Given the description of an element on the screen output the (x, y) to click on. 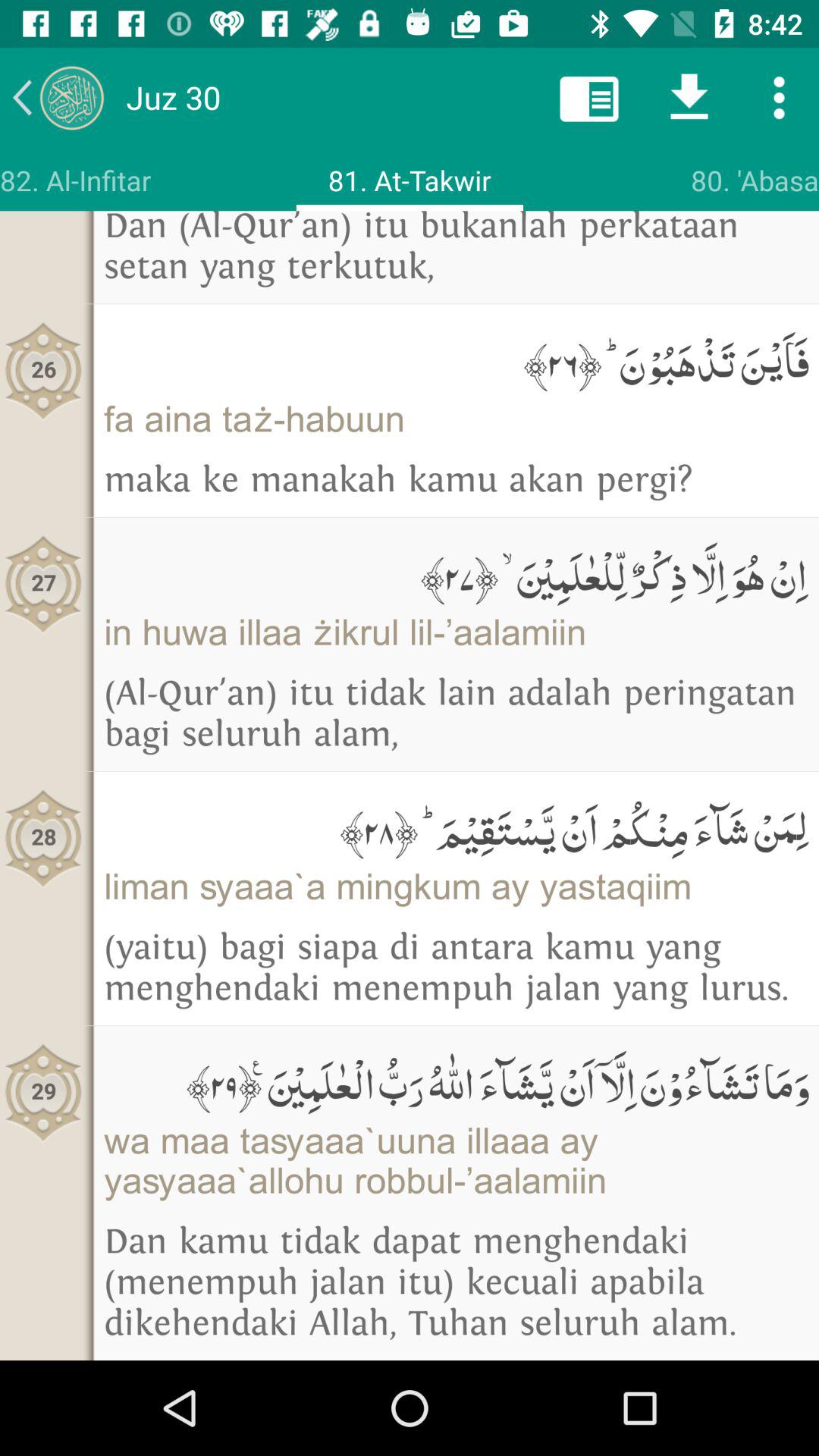
go back (58, 97)
